Given the description of an element on the screen output the (x, y) to click on. 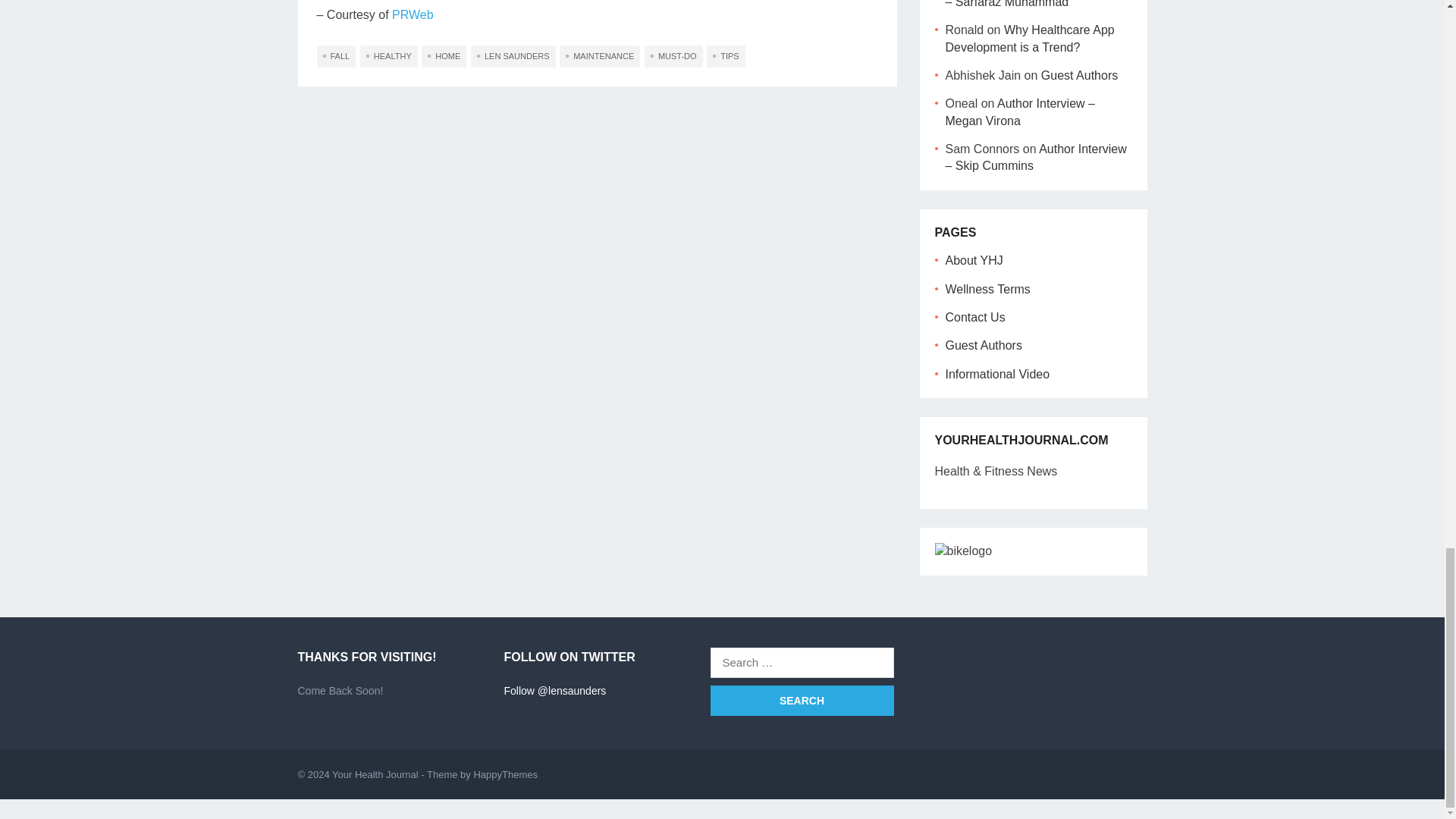
HOME (443, 56)
Search (801, 700)
MUST-DO (674, 56)
LEN SAUNDERS (513, 56)
TIPS (725, 56)
Search (801, 700)
MAINTENANCE (599, 56)
HEALTHY (388, 56)
FALL (336, 56)
PRWeb (412, 14)
